Given the description of an element on the screen output the (x, y) to click on. 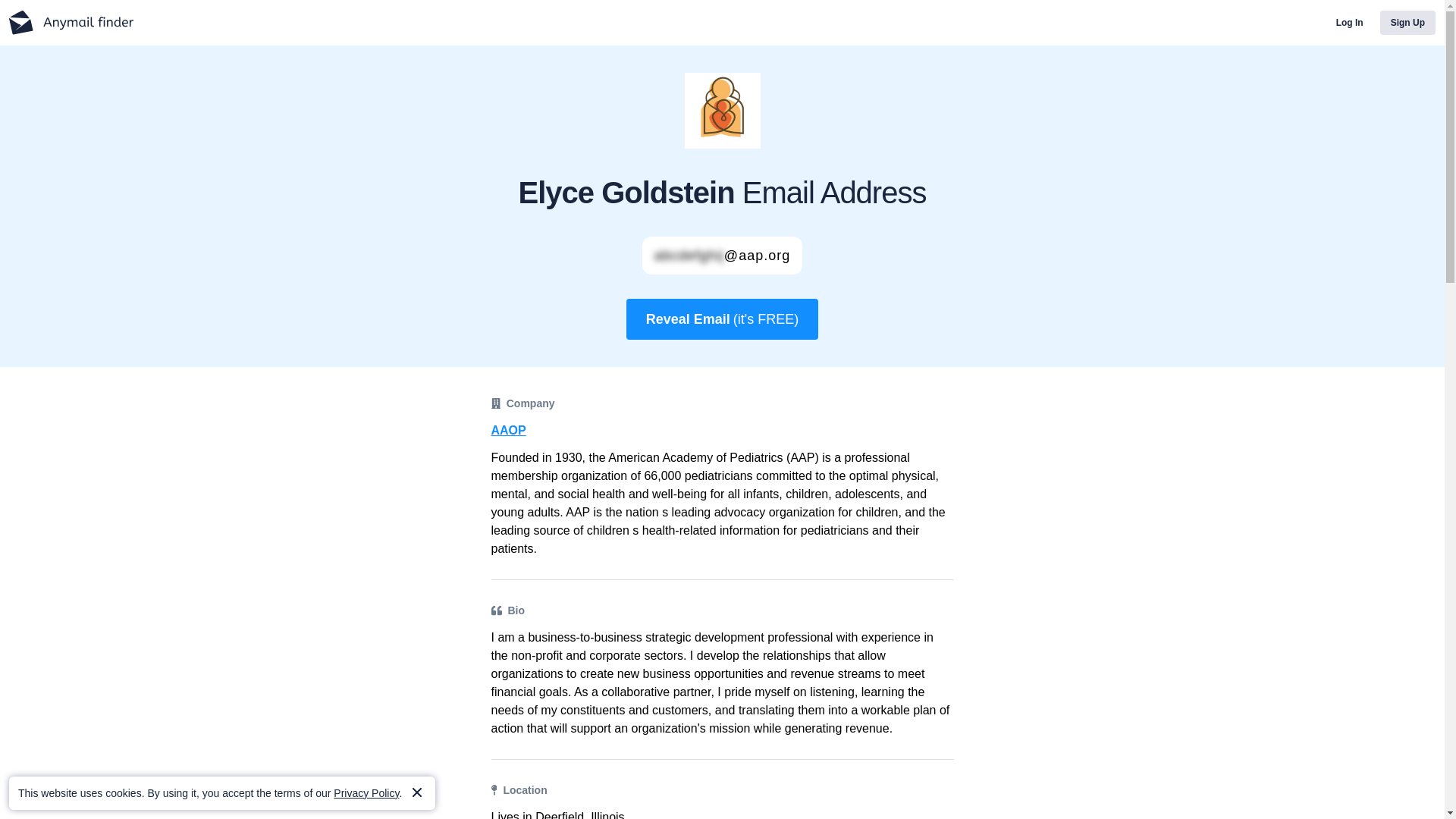
Sign Up (1407, 22)
AAOP (722, 430)
Log In (1349, 22)
